Given the description of an element on the screen output the (x, y) to click on. 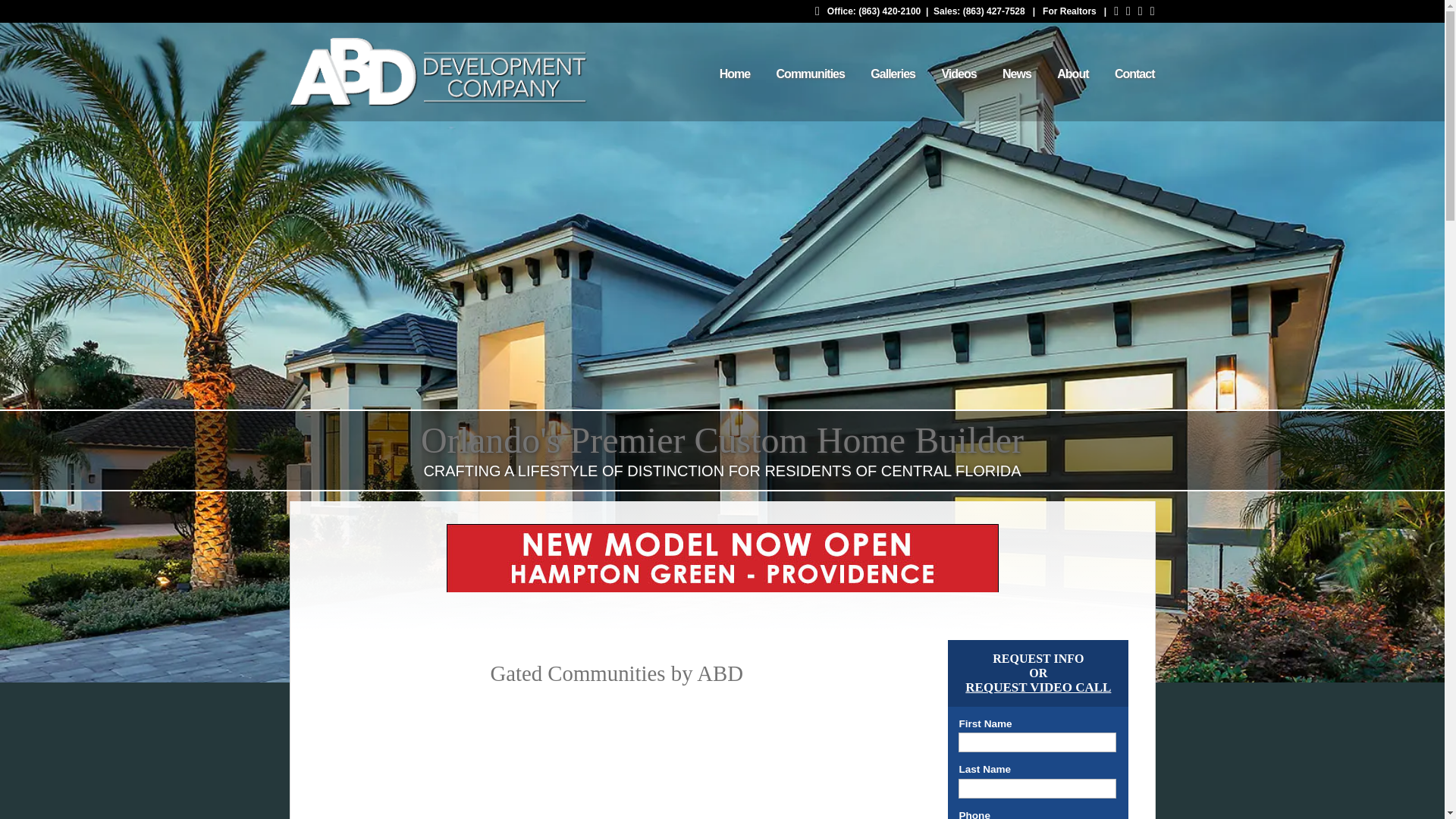
About (1060, 73)
REQUEST VIDEO CALL (1037, 687)
Galleries (881, 73)
For Realtors (1069, 10)
Communities (799, 73)
News (1004, 73)
Contact (1123, 73)
Home (723, 73)
Videos (946, 73)
